Given the description of an element on the screen output the (x, y) to click on. 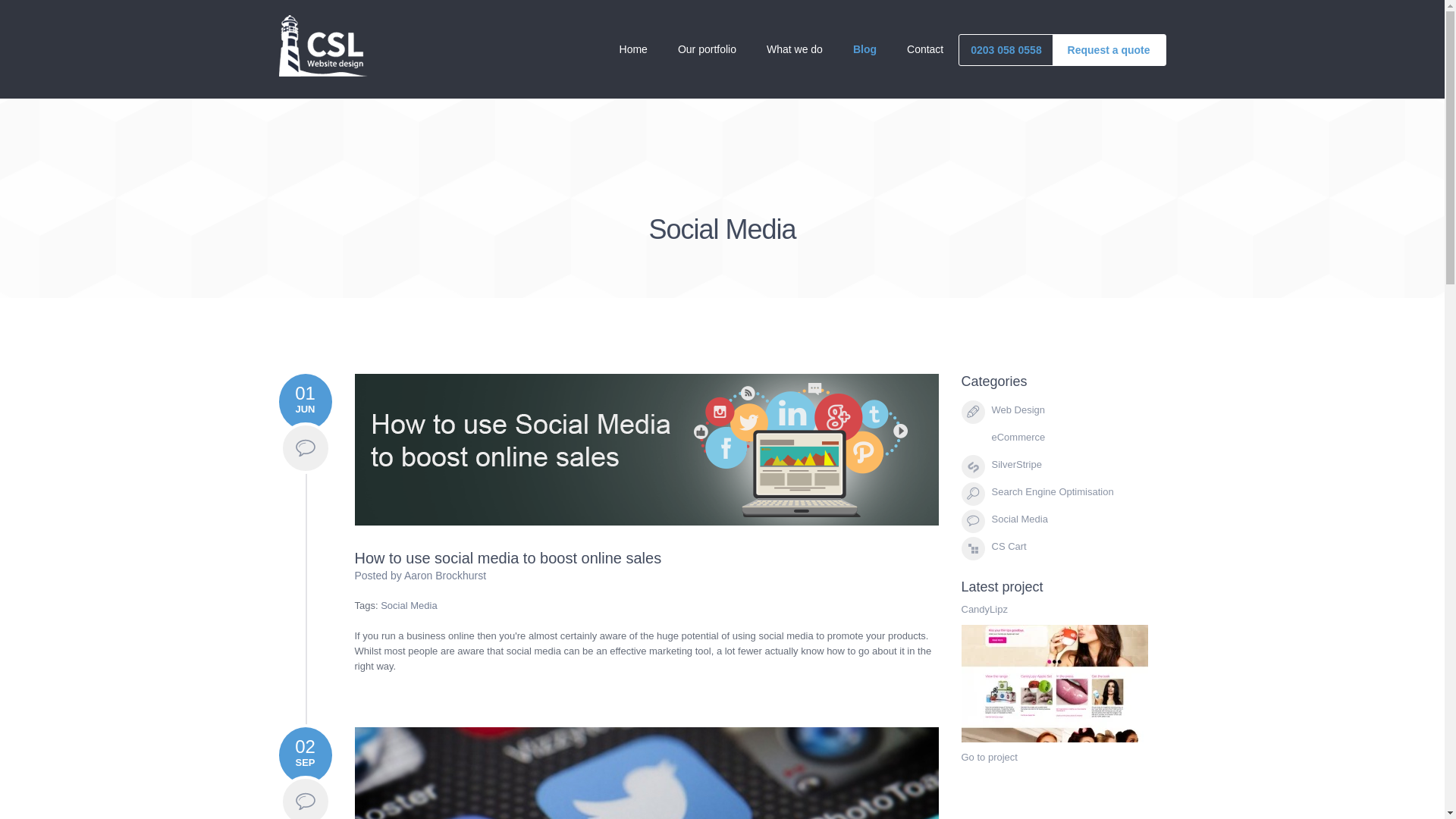
Search Engine Optimisation (1052, 491)
Social Media (408, 604)
Home (633, 49)
More about Social Media (305, 797)
What we do (794, 49)
More about Social Media (305, 448)
0203 058 0558 (1006, 49)
We do just about anything web (794, 49)
eCommerce (1018, 437)
Social Media (1019, 518)
Our portfolio (706, 49)
CandyLipz (983, 609)
SilverStripe (1016, 464)
View all posts tagged 'Social Media' (408, 604)
Request a quote (1109, 50)
